Given the description of an element on the screen output the (x, y) to click on. 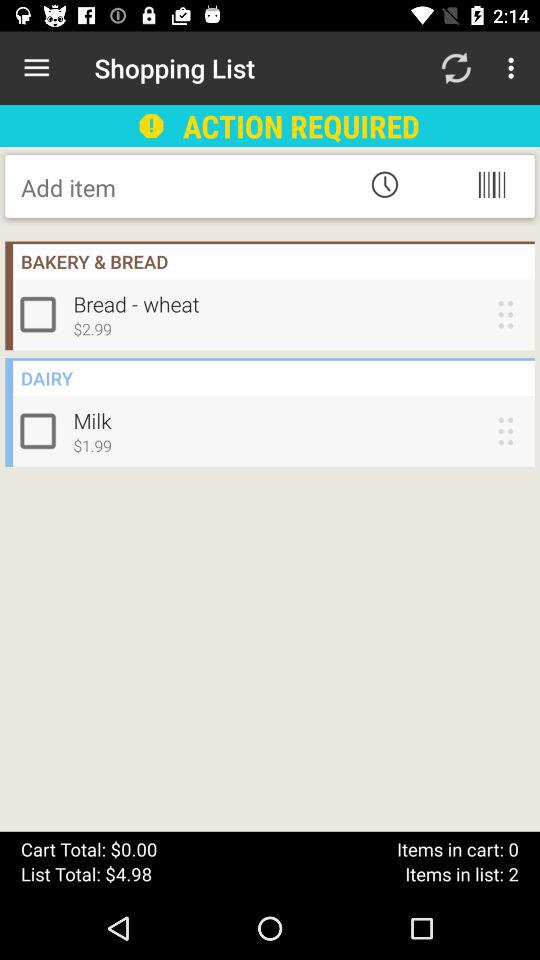
check item (41, 314)
